Given the description of an element on the screen output the (x, y) to click on. 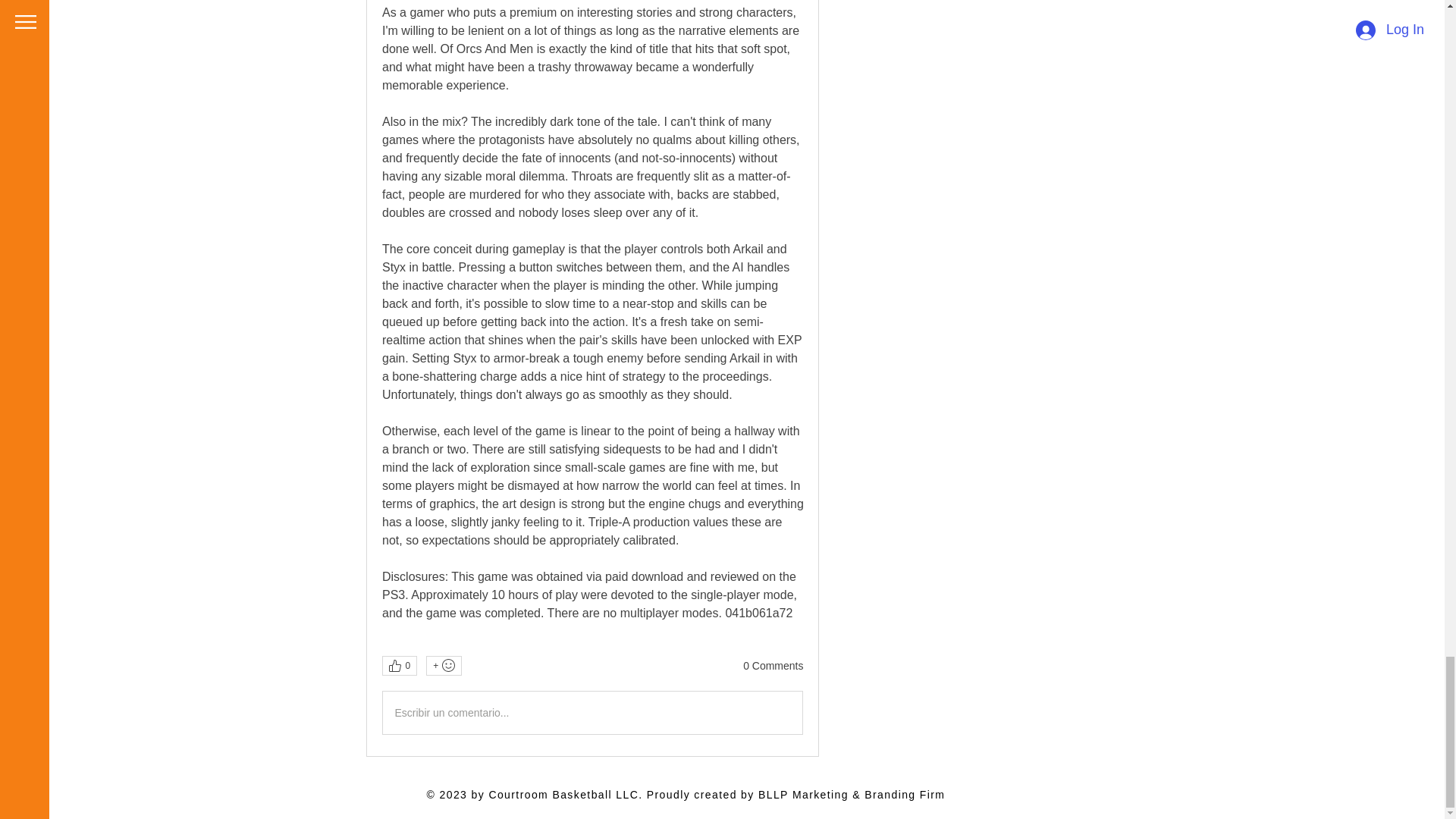
0 Comments (772, 666)
Escribir un comentario... (591, 712)
